Given the description of an element on the screen output the (x, y) to click on. 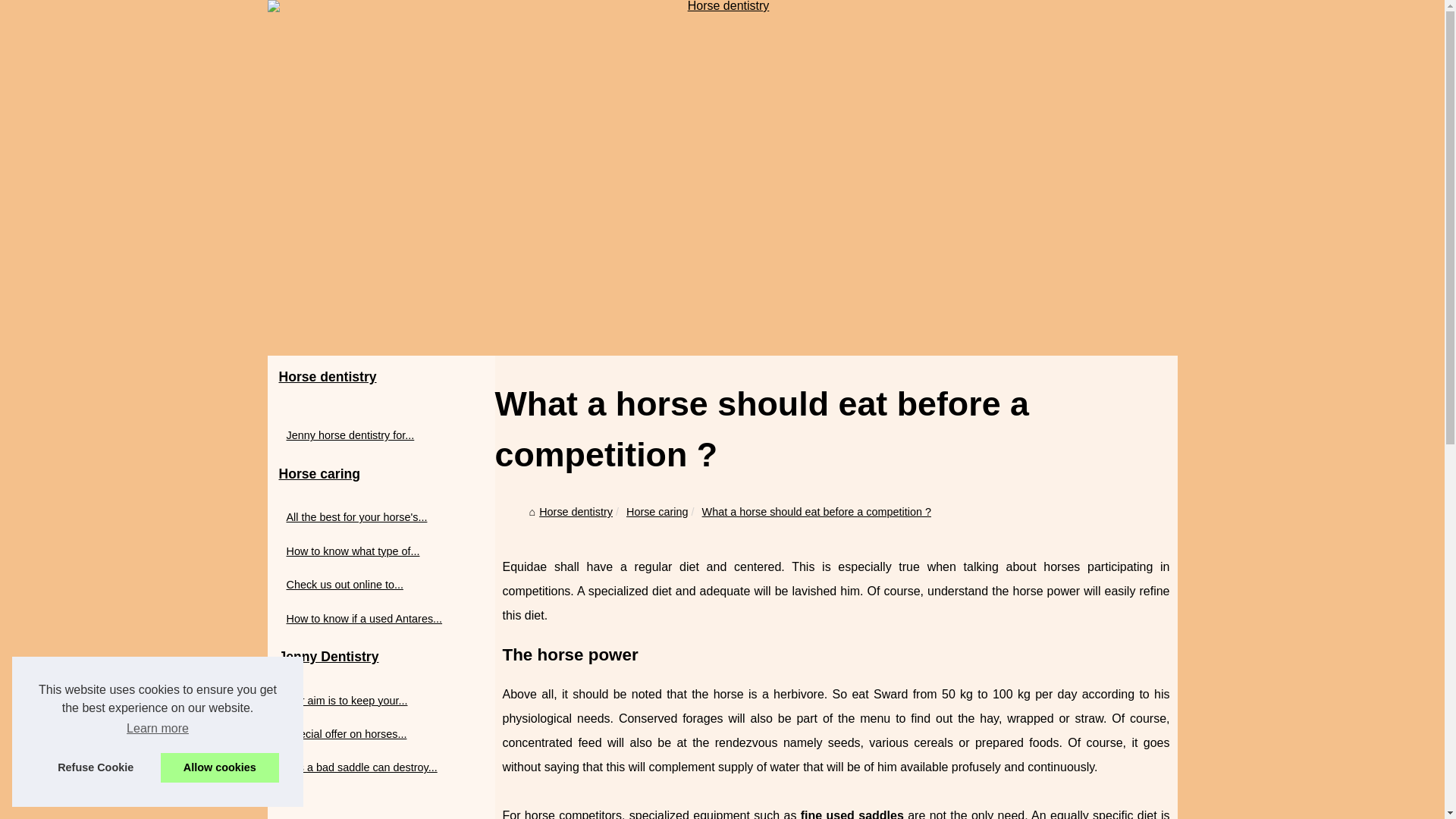
What a horse should eat before a competition ? (816, 511)
All the best for your horse's... (373, 516)
Check us out online to... (373, 584)
Horse dentistry (380, 377)
Jenny horse dentistry for... (373, 434)
Horse caring (380, 474)
Yes a bad saddle can destroy... (373, 767)
fine used saddles (852, 814)
Horse dentistry (380, 377)
Allow cookies (219, 767)
